Given the description of an element on the screen output the (x, y) to click on. 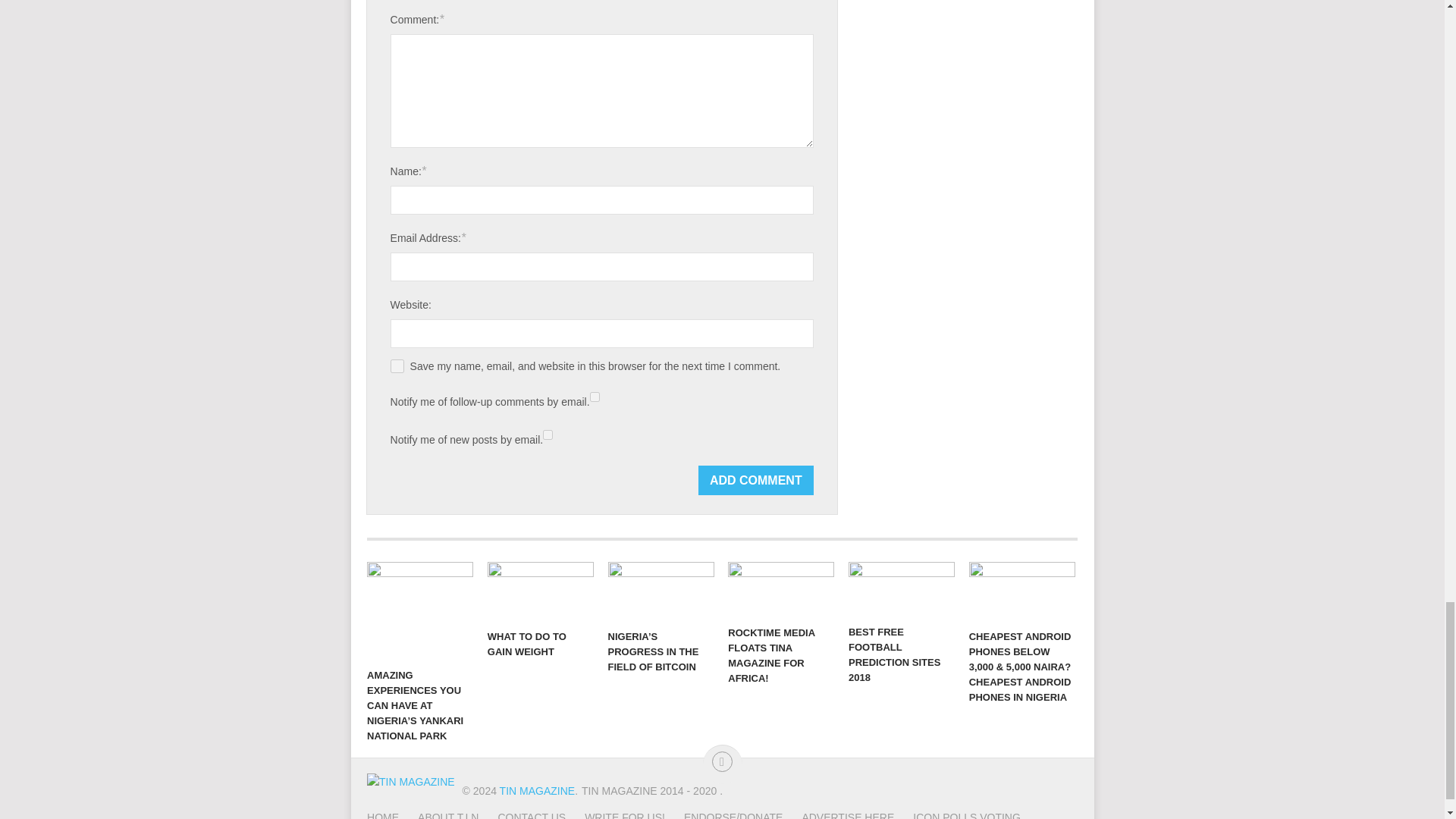
Add Comment (755, 480)
yes (397, 366)
subscribe (548, 434)
Add Comment (755, 480)
subscribe (594, 397)
